Given the description of an element on the screen output the (x, y) to click on. 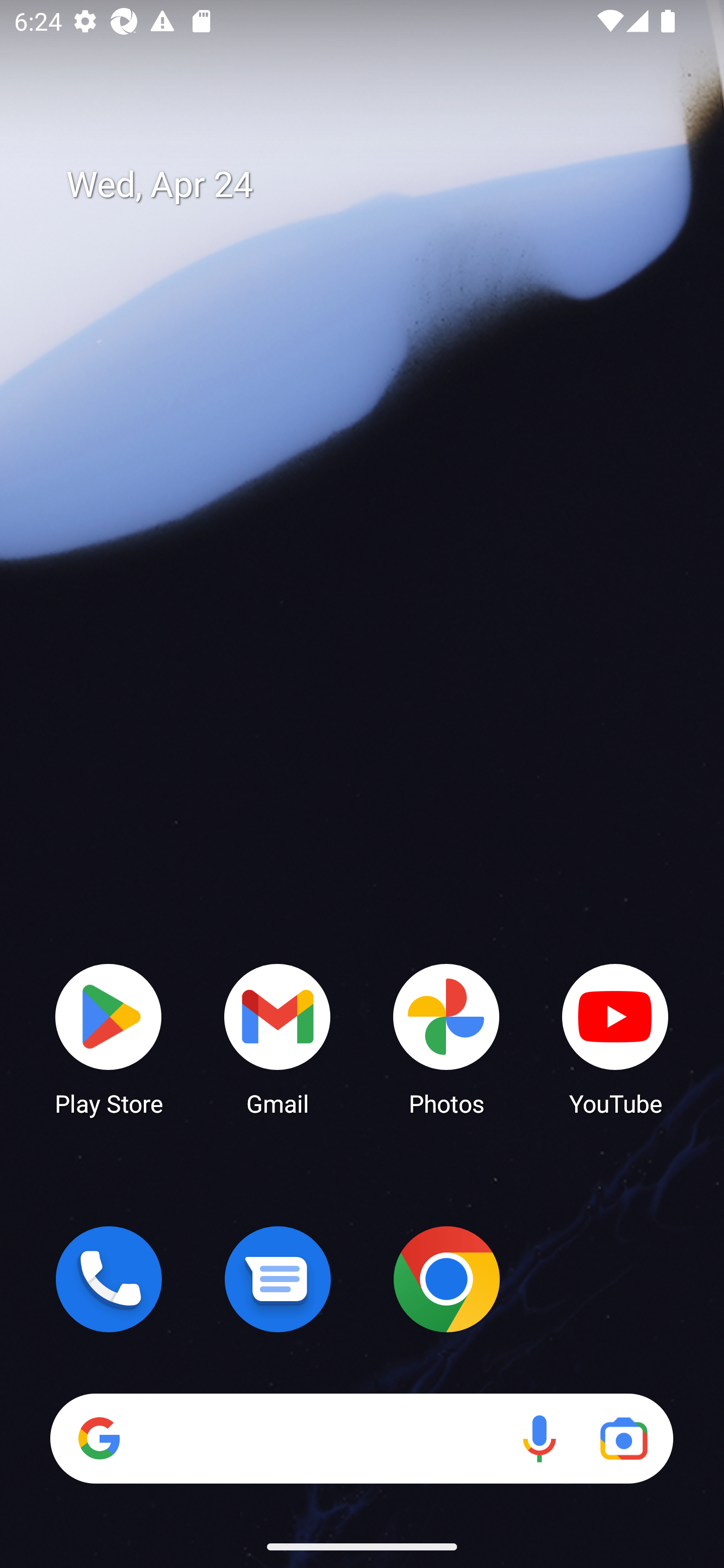
Wed, Apr 24 (375, 184)
Play Store (108, 1038)
Gmail (277, 1038)
Photos (445, 1038)
YouTube (615, 1038)
Phone (108, 1279)
Messages (277, 1279)
Chrome (446, 1279)
Search Voice search Google Lens (361, 1438)
Voice search (539, 1438)
Google Lens (623, 1438)
